Given the description of an element on the screen output the (x, y) to click on. 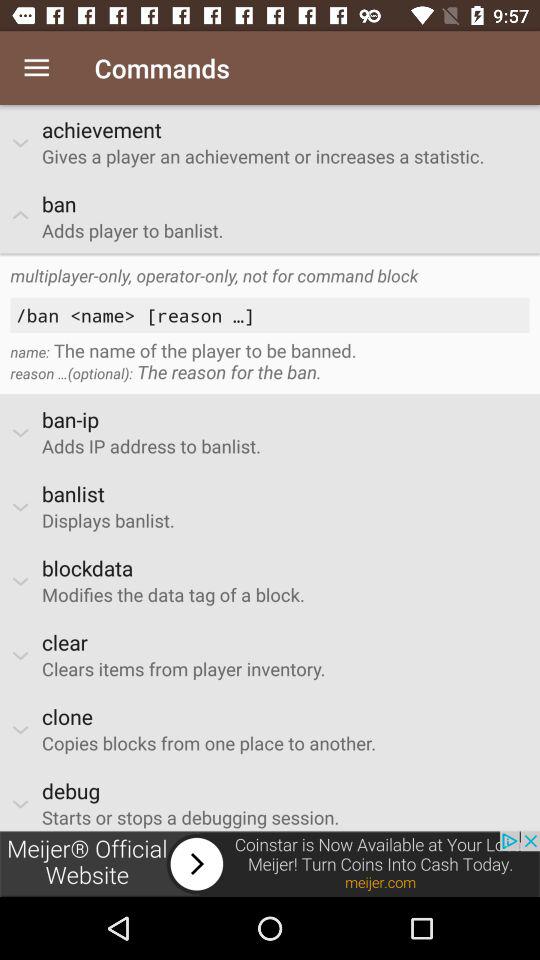
advertisement to open meijer official website (270, 864)
